Given the description of an element on the screen output the (x, y) to click on. 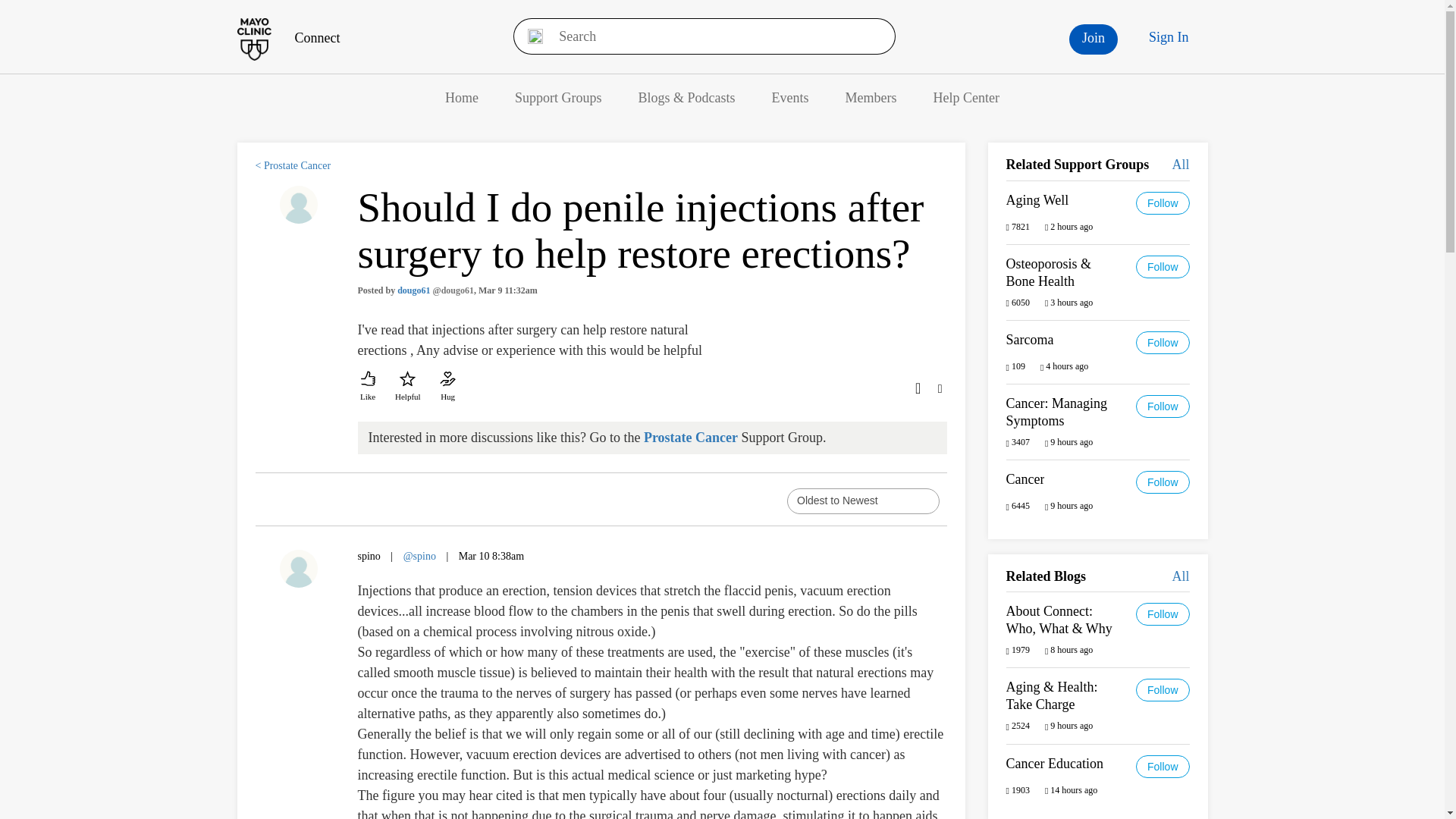
Connect (287, 37)
Manage notification settings for this discussion (916, 386)
Helpful: indicate that you found this discussion helpful. (407, 386)
Members (870, 97)
Home (462, 97)
Like this discussion to show appreciation for it. (368, 386)
Sign In (1169, 37)
Help Center (965, 97)
Hug (448, 386)
Send encouragement for this discussion. (448, 386)
Like (368, 386)
Members (870, 97)
Home (462, 97)
Events (790, 97)
Join (1093, 39)
